Given the description of an element on the screen output the (x, y) to click on. 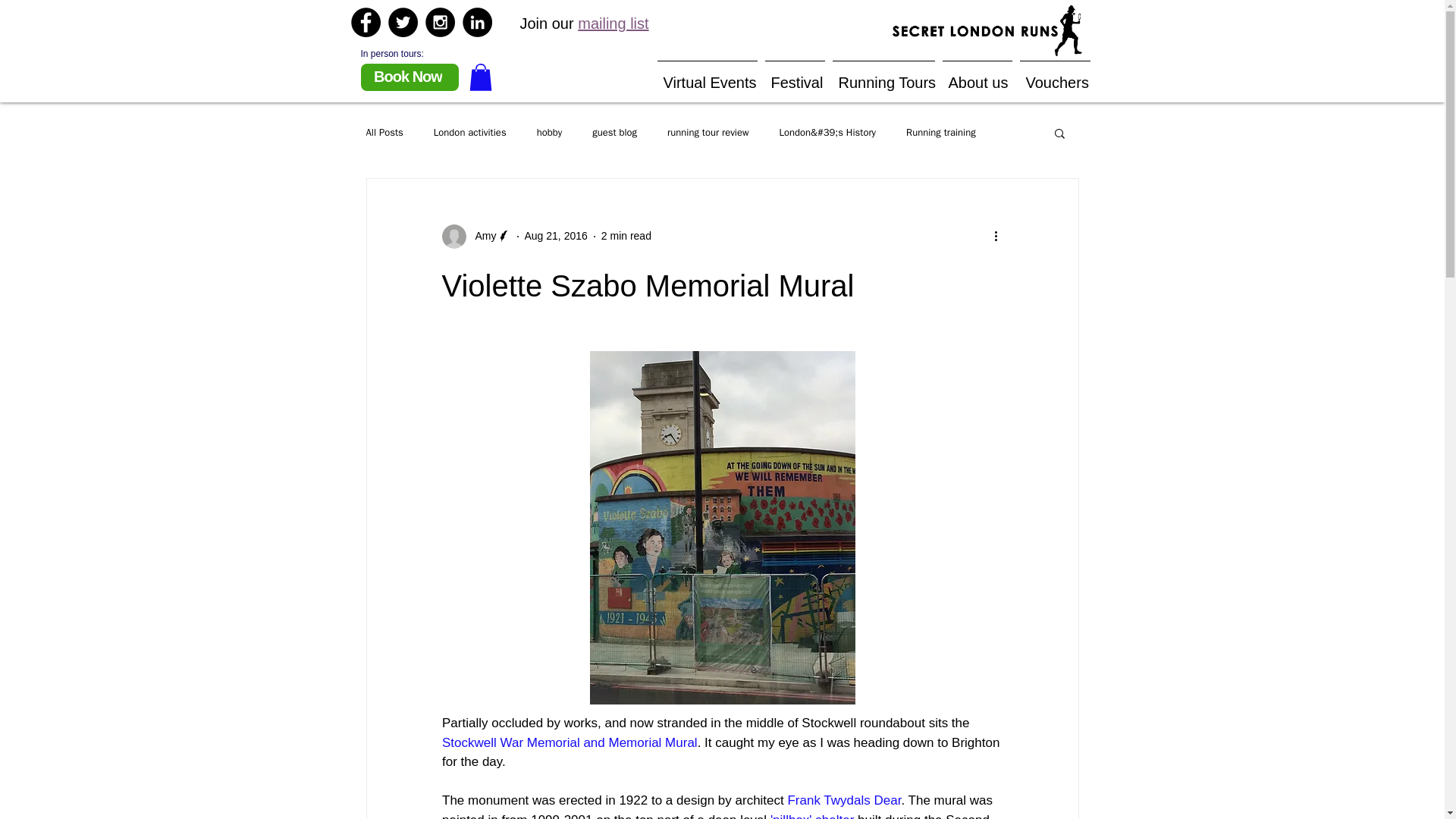
Book Now (409, 76)
Vouchers (1055, 75)
running tour review (707, 132)
Festival (794, 75)
Amy (480, 236)
Running training (940, 132)
hobby (549, 132)
Aug 21, 2016 (556, 235)
Virtual Events (707, 75)
2 min read (625, 235)
Amy (476, 236)
All Posts (384, 132)
Stockwell War Memorial and Memorial Mural (569, 741)
About us (977, 75)
guest blog (614, 132)
